Given the description of an element on the screen output the (x, y) to click on. 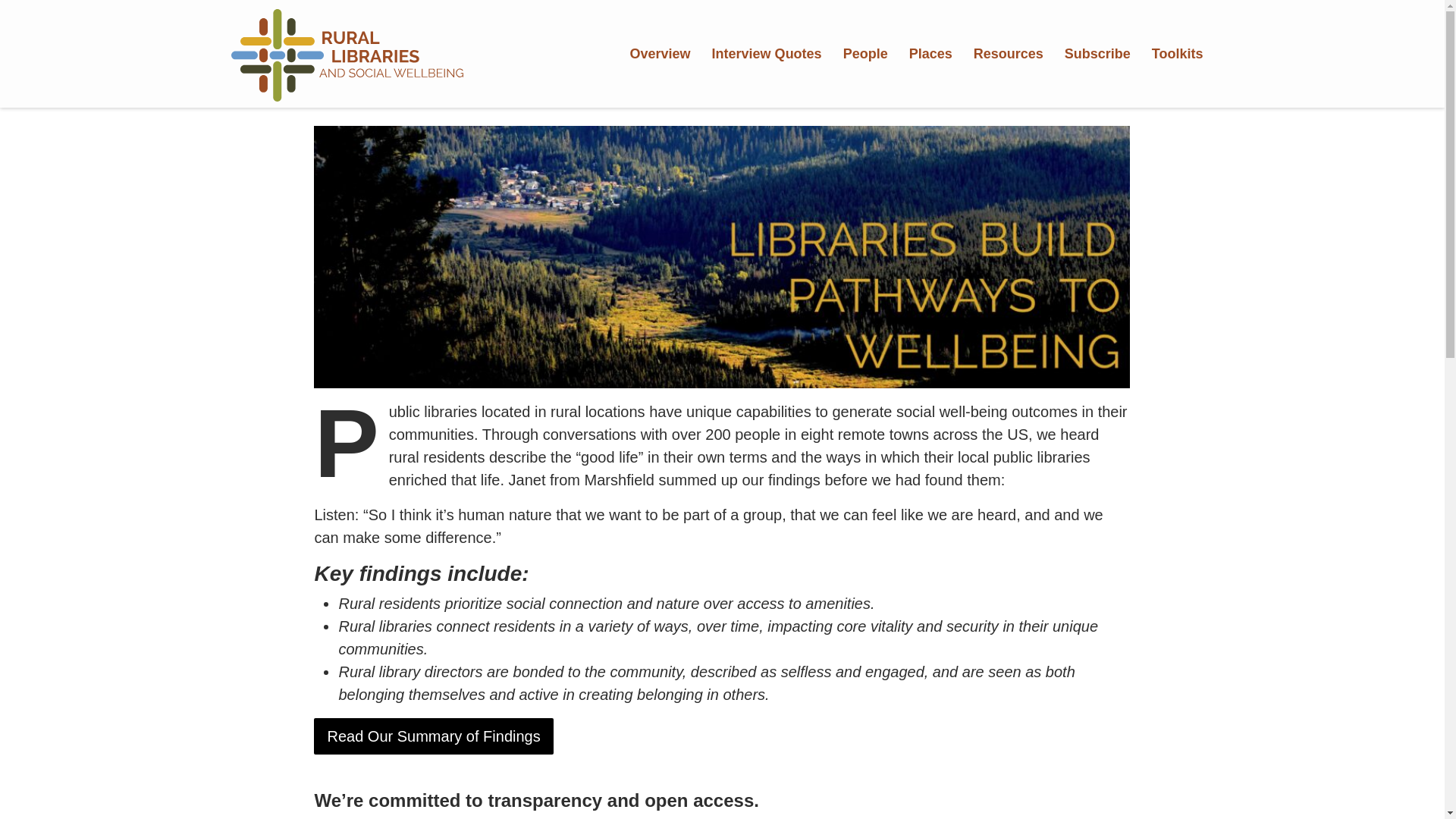
Places (930, 53)
People (865, 53)
Subscribe (1097, 53)
Interview Quotes (766, 53)
Read Our Summary of Findings (433, 736)
Resources (1008, 53)
Overview (660, 53)
Toolkits (1177, 53)
